Given the description of an element on the screen output the (x, y) to click on. 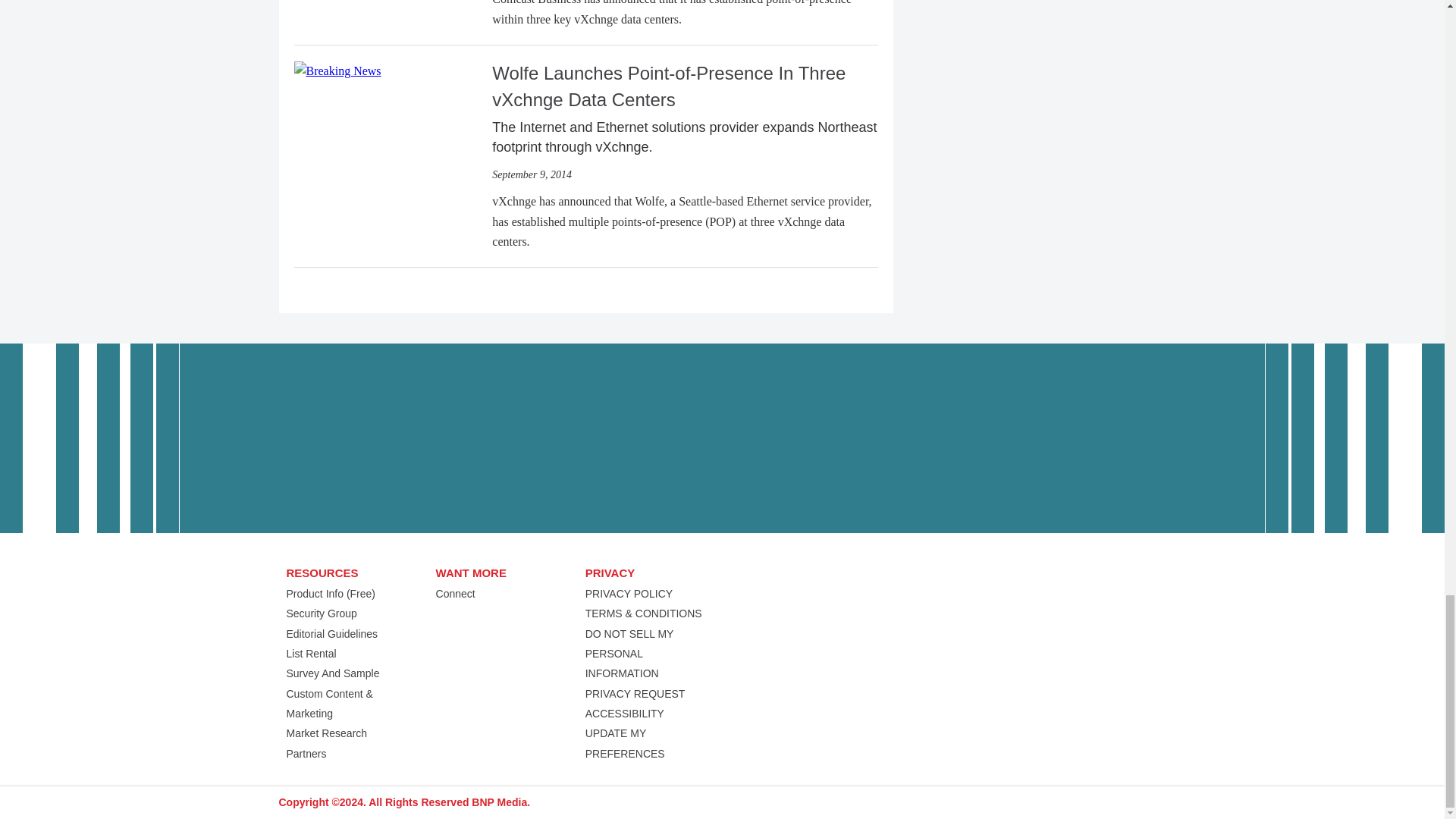
Breaking News (337, 71)
